Given the description of an element on the screen output the (x, y) to click on. 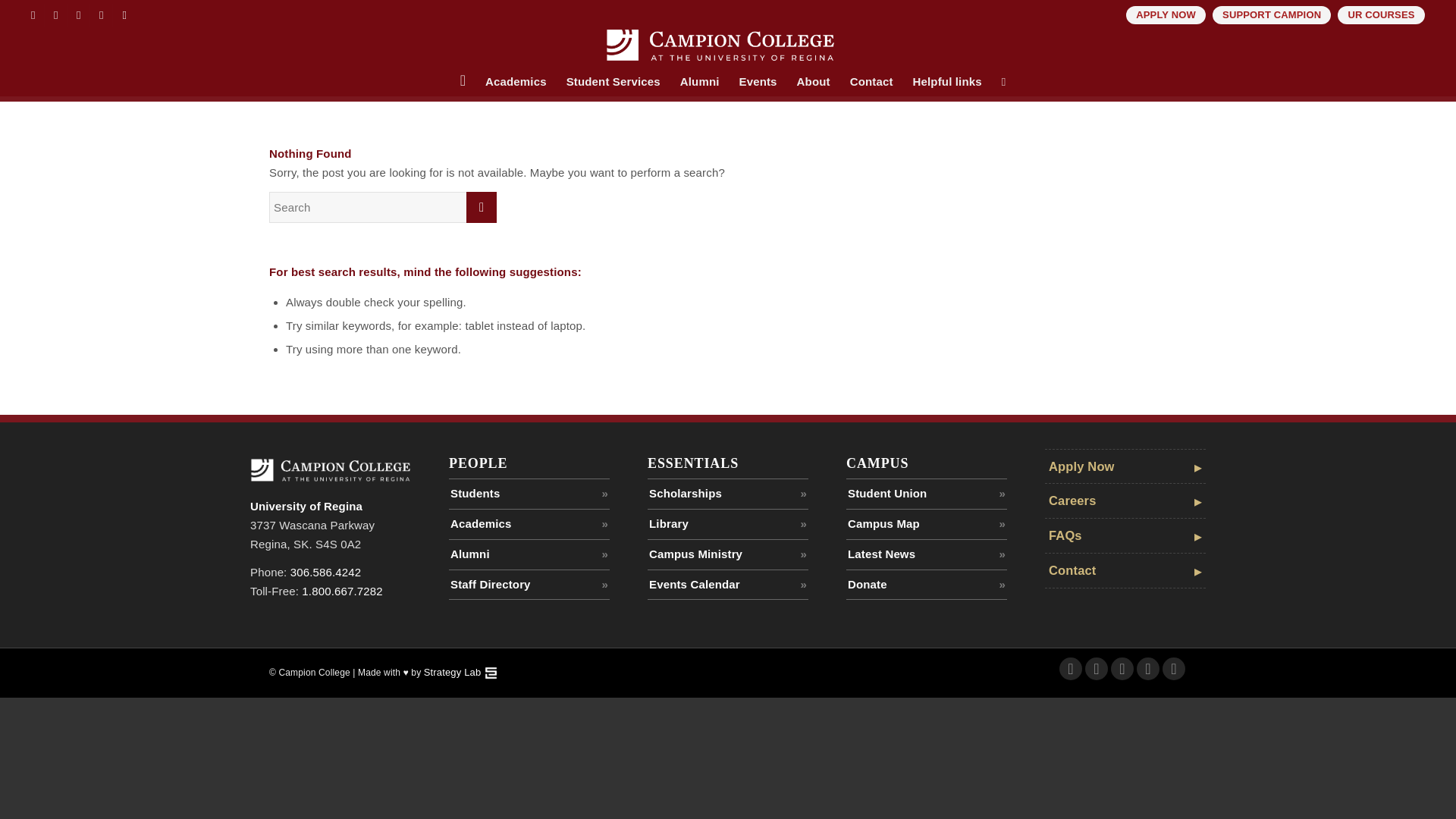
Youtube (1173, 668)
Instagram (1122, 668)
Twitter (1096, 668)
Events (758, 81)
Youtube (124, 15)
Facebook (32, 15)
Facebook (1070, 668)
APPLY NOW (1165, 14)
LinkedIn (101, 15)
Academics (516, 81)
